Given the description of an element on the screen output the (x, y) to click on. 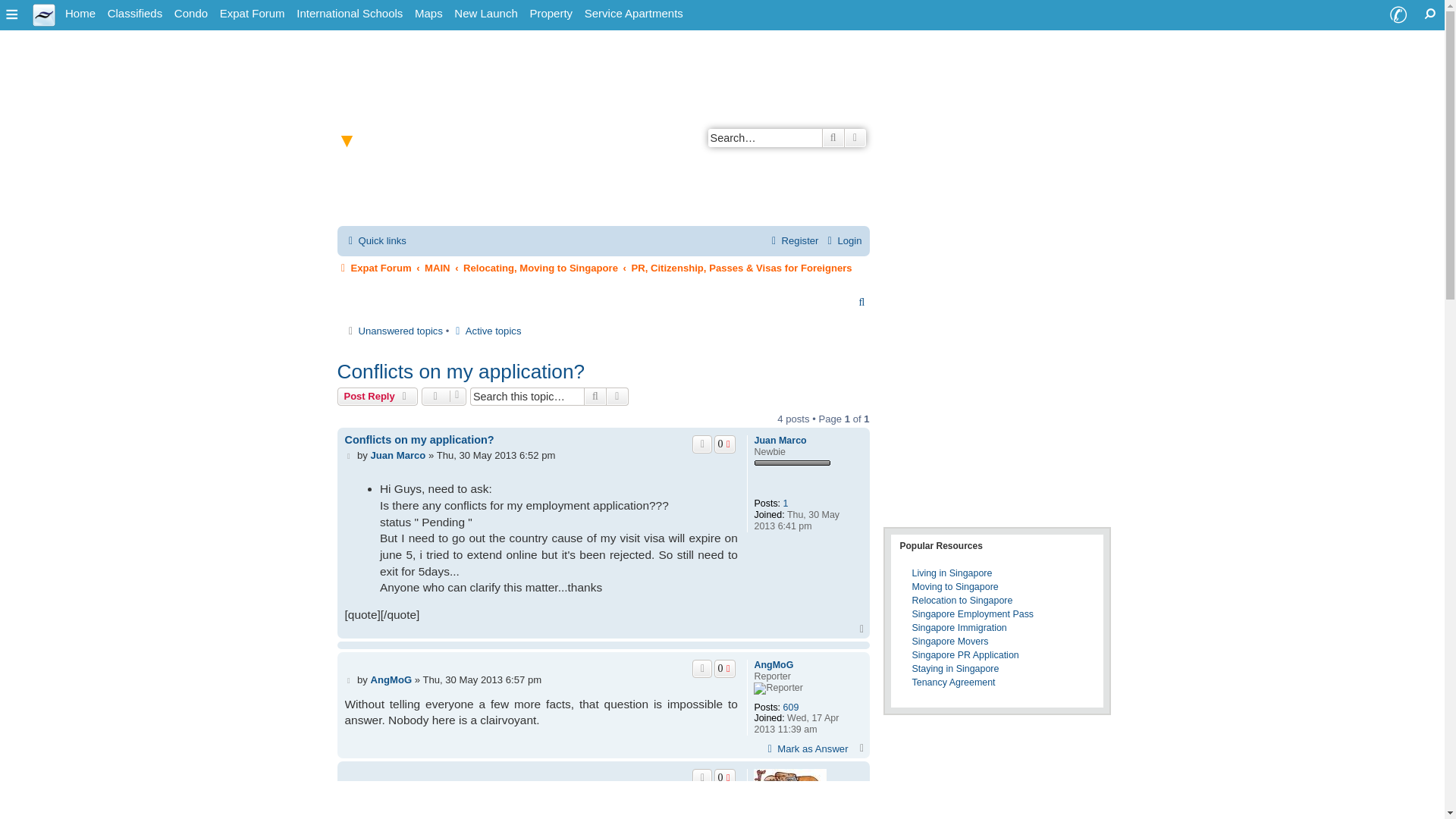
Maps (428, 13)
Singapore Classified Ads (135, 13)
Contact Us (1397, 15)
Classifieds (135, 13)
Property (550, 13)
Expat Forum (252, 13)
Home (80, 13)
Singapore International Schools (349, 13)
Singapore Condo Directory (191, 13)
Singapore Street Maps (428, 13)
